Given the description of an element on the screen output the (x, y) to click on. 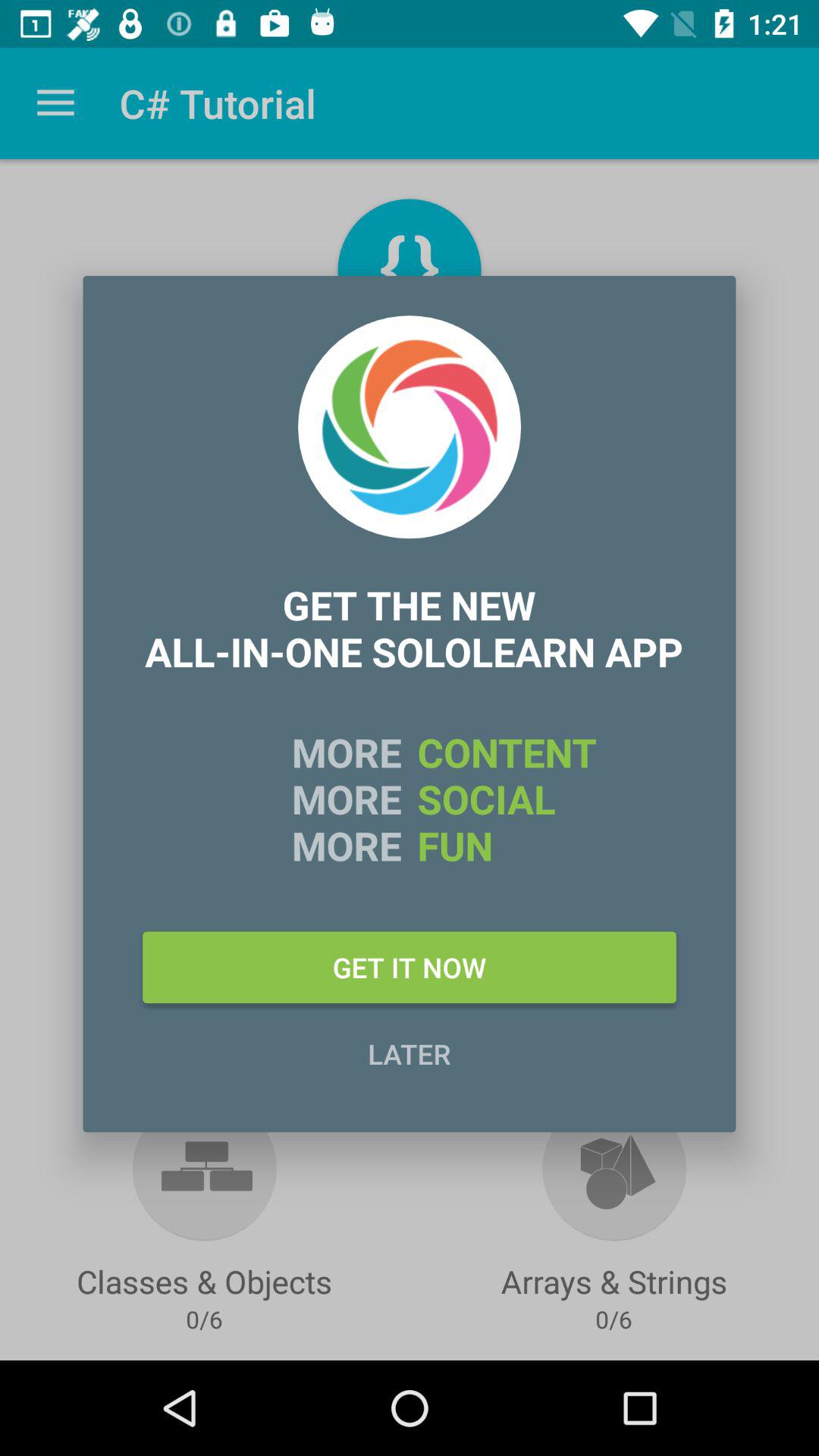
flip until get it now item (409, 967)
